Given the description of an element on the screen output the (x, y) to click on. 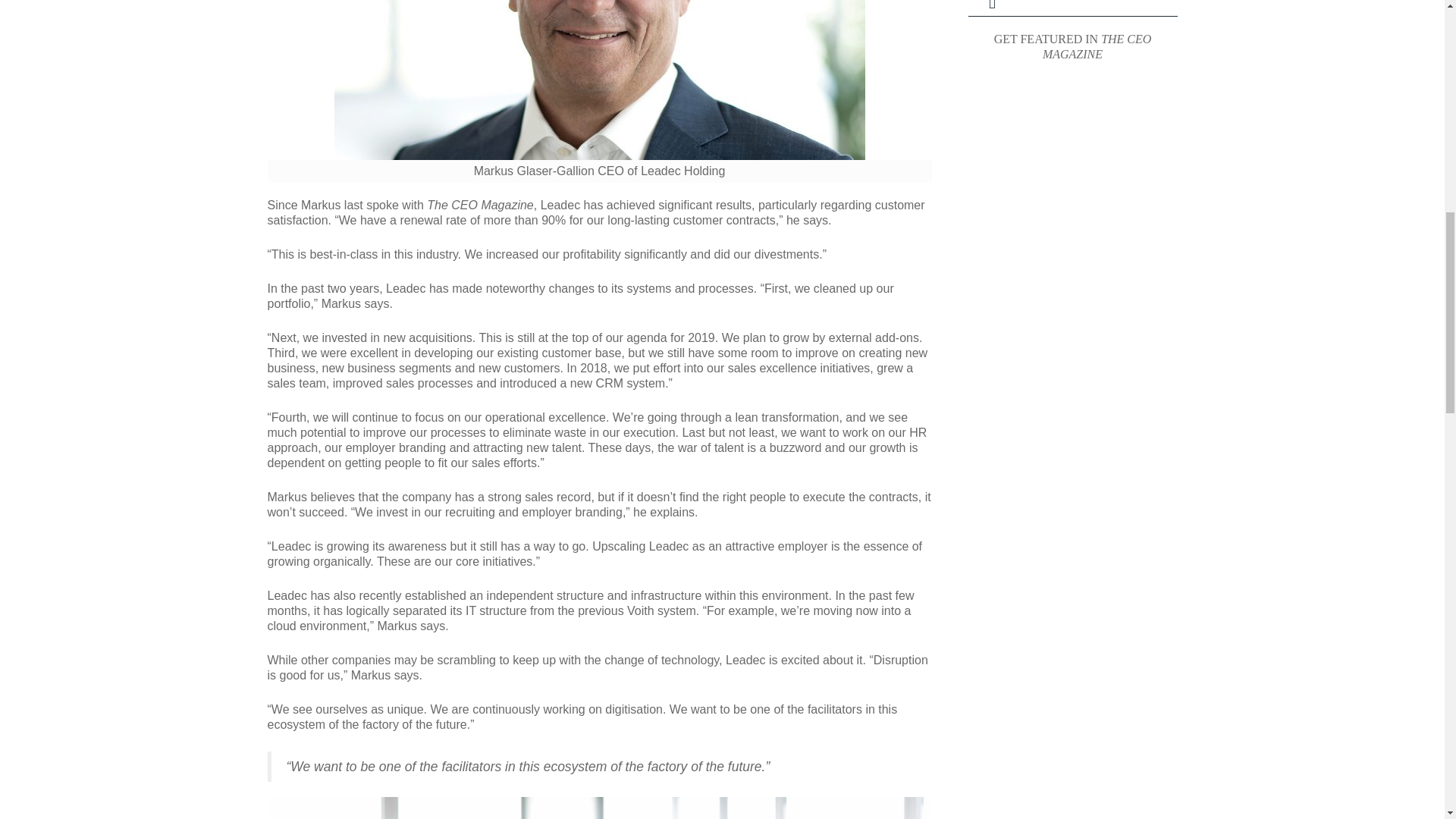
GET FEATURED IN THE CEO MAGAZINE (1072, 46)
Sign-up (991, 7)
Subscribe (991, 7)
